Given the description of an element on the screen output the (x, y) to click on. 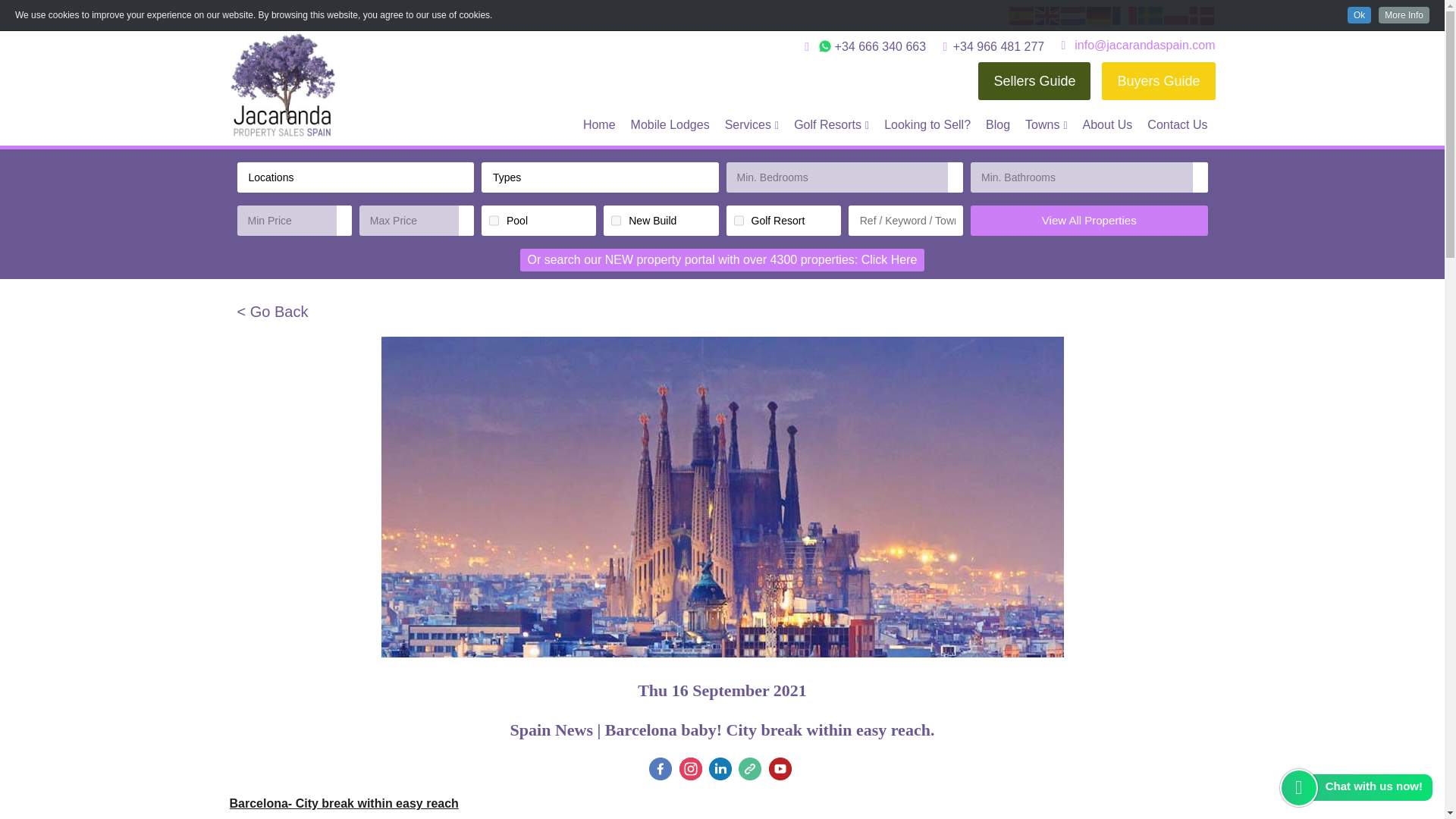
Swedish (1150, 14)
French (1124, 14)
Blog (997, 125)
1 (494, 220)
Looking to Sell? (927, 125)
Ok (1359, 14)
Spanish (1021, 14)
Mobile Lodges (670, 125)
Buyers Guide (1158, 80)
1 (738, 220)
Services (751, 125)
Dutch (1072, 14)
Sellers Guide (1034, 80)
German (1099, 14)
Polish (1176, 14)
